Given the description of an element on the screen output the (x, y) to click on. 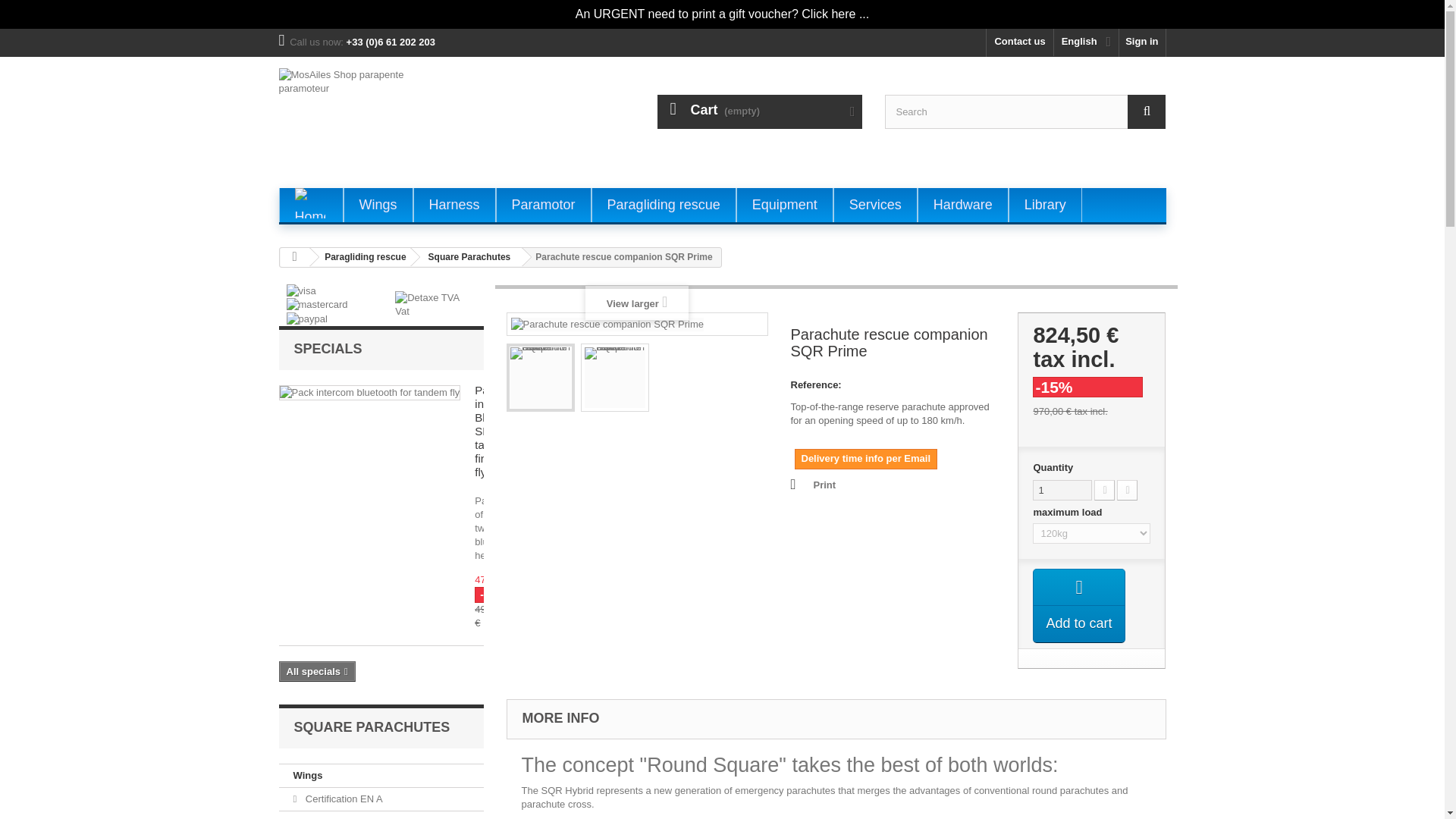
1 (1062, 489)
Wings (377, 204)
Log in to your customer account (1141, 42)
An URGENT need to print a gift voucher? Click here ... (722, 14)
Paramotor (543, 204)
Wings (377, 204)
Contact us (1019, 42)
An URGENT need to print a gift voucher? Click here ... (722, 14)
MosAiles Shop parapente paramoteur (419, 119)
View my shopping cart (759, 111)
Sign in (1141, 42)
Harness (454, 204)
Home (309, 203)
Contact us (1019, 42)
